Given the description of an element on the screen output the (x, y) to click on. 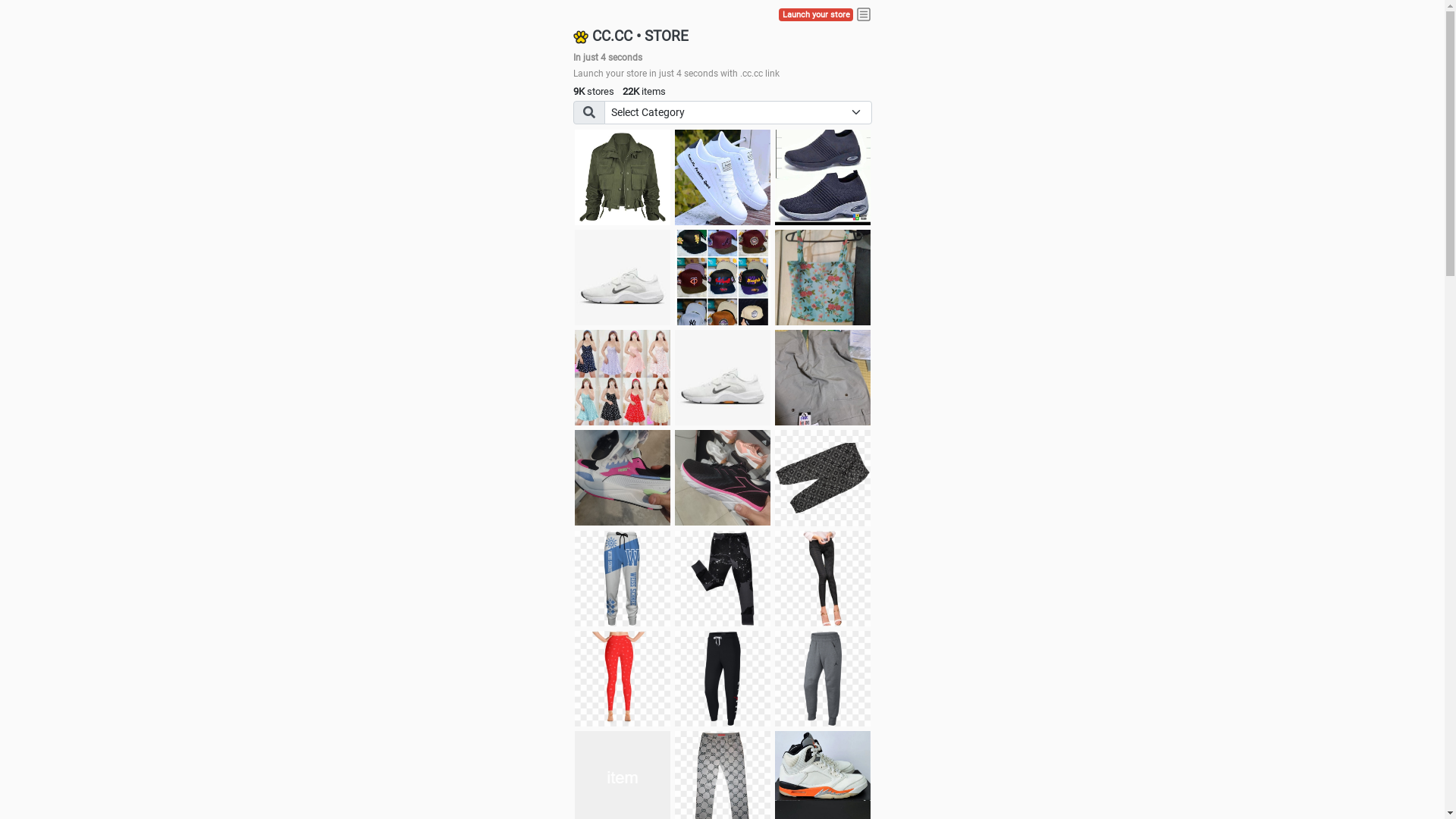
Shoes Element type: hover (722, 377)
Short pant Element type: hover (822, 477)
Pant Element type: hover (722, 678)
Dress/square nect top Element type: hover (622, 377)
Things we need Element type: hover (722, 277)
Pant Element type: hover (622, 578)
Zapatillas pumas Element type: hover (622, 477)
Launch your store Element type: text (815, 14)
Shoes for boys Element type: hover (622, 277)
Pant Element type: hover (822, 678)
Ukay cloth Element type: hover (822, 277)
Pant Element type: hover (722, 578)
shoes for boys Element type: hover (822, 177)
jacket Element type: hover (622, 177)
Pant Element type: hover (622, 678)
Pant Element type: hover (822, 578)
white shoes Element type: hover (722, 177)
Zapatillas Element type: hover (722, 477)
